Given the description of an element on the screen output the (x, y) to click on. 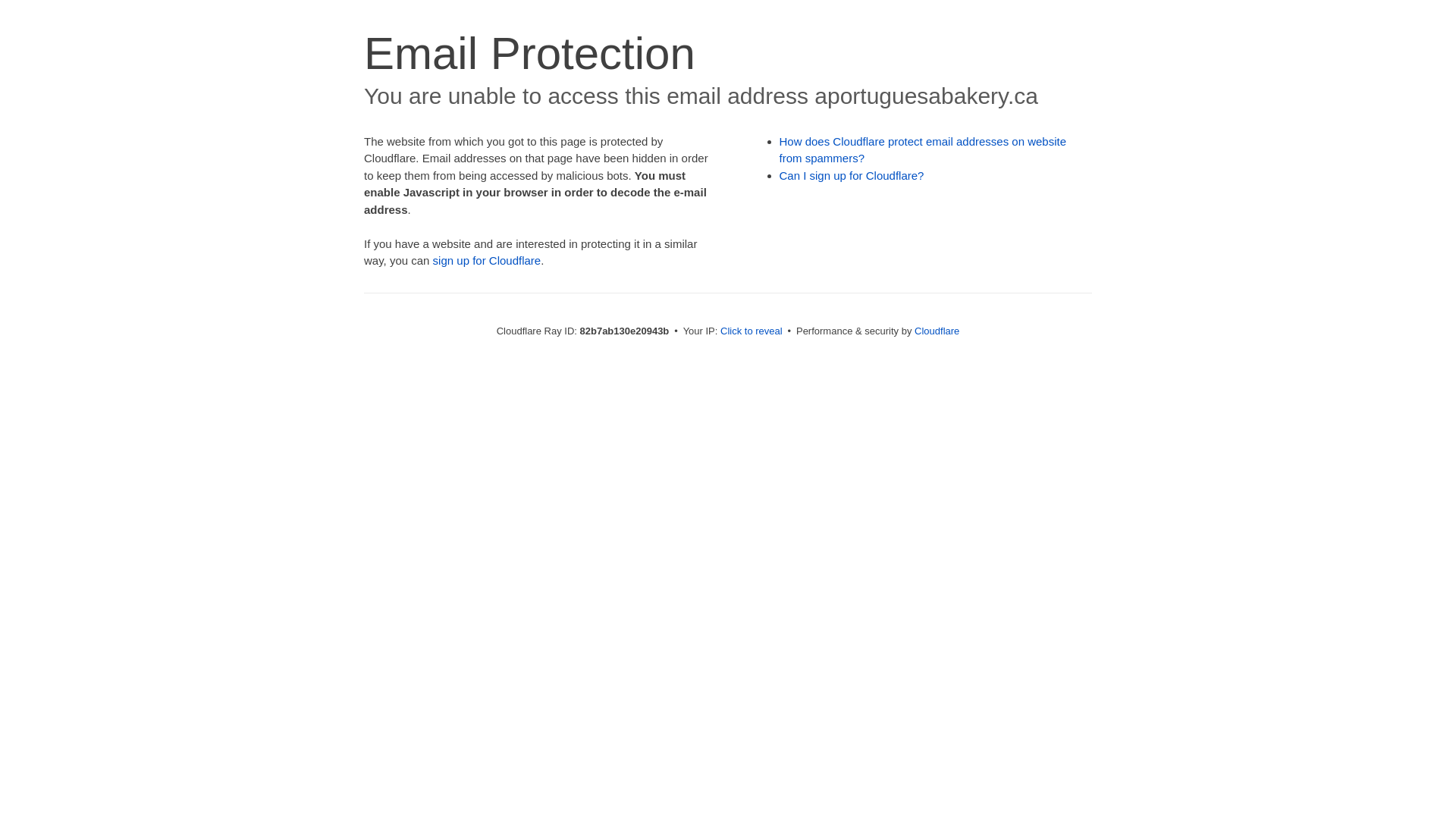
Cloudflare Element type: text (936, 330)
sign up for Cloudflare Element type: text (487, 260)
Can I sign up for Cloudflare? Element type: text (851, 175)
Click to reveal Element type: text (751, 330)
